Given the description of an element on the screen output the (x, y) to click on. 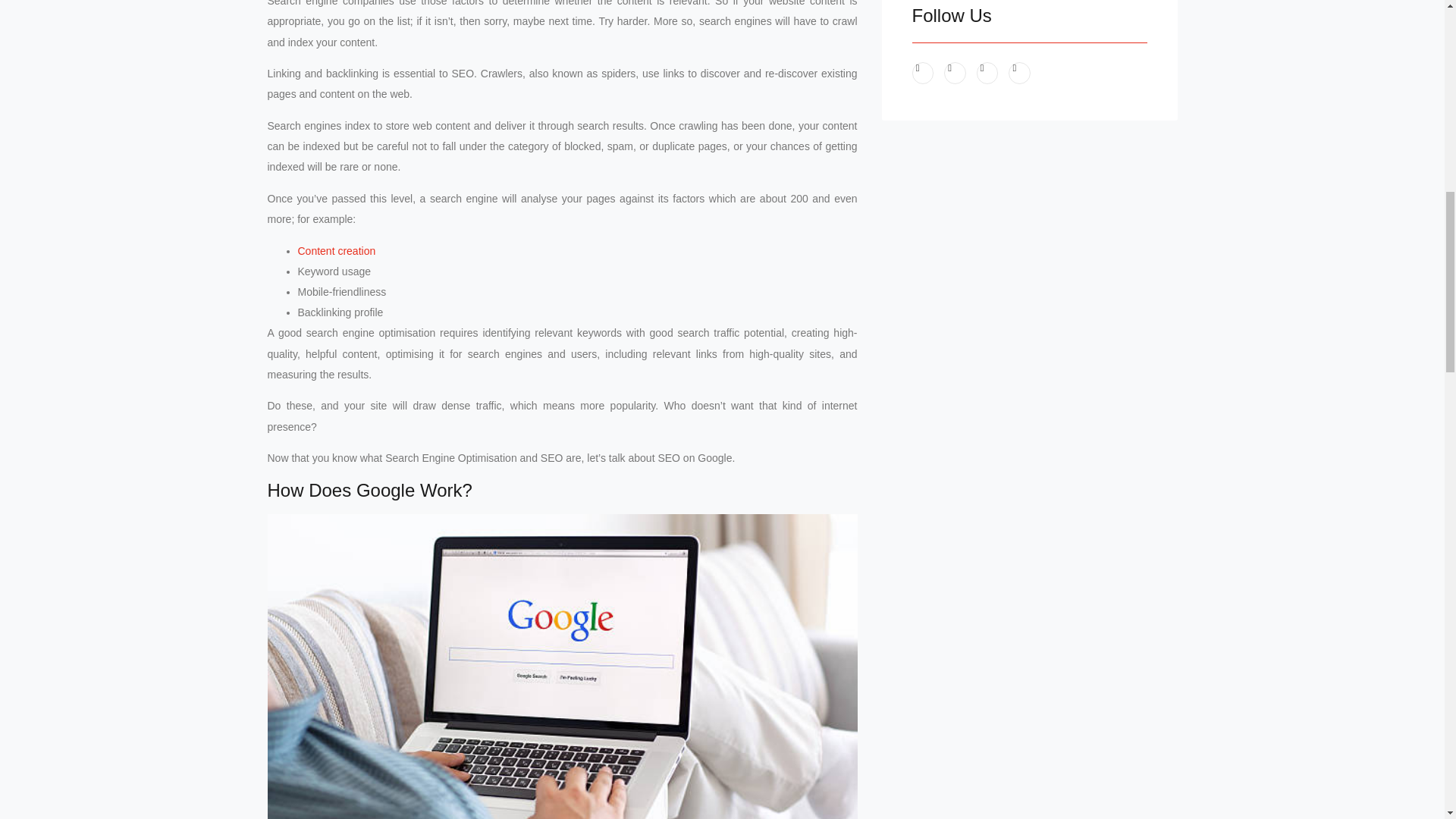
Follow Us (1029, 15)
